Given the description of an element on the screen output the (x, y) to click on. 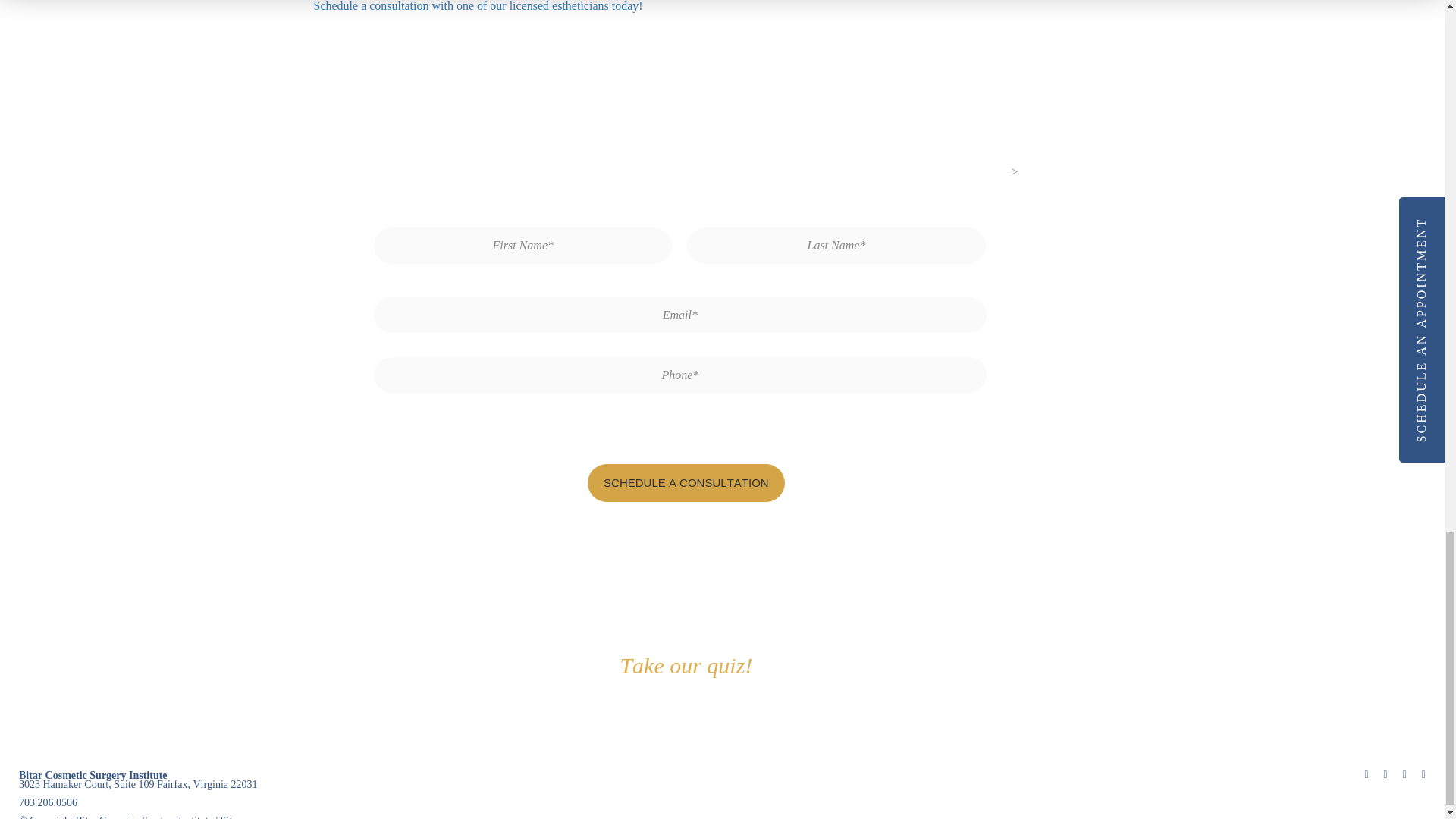
Schedule a Consultation (686, 483)
